Given the description of an element on the screen output the (x, y) to click on. 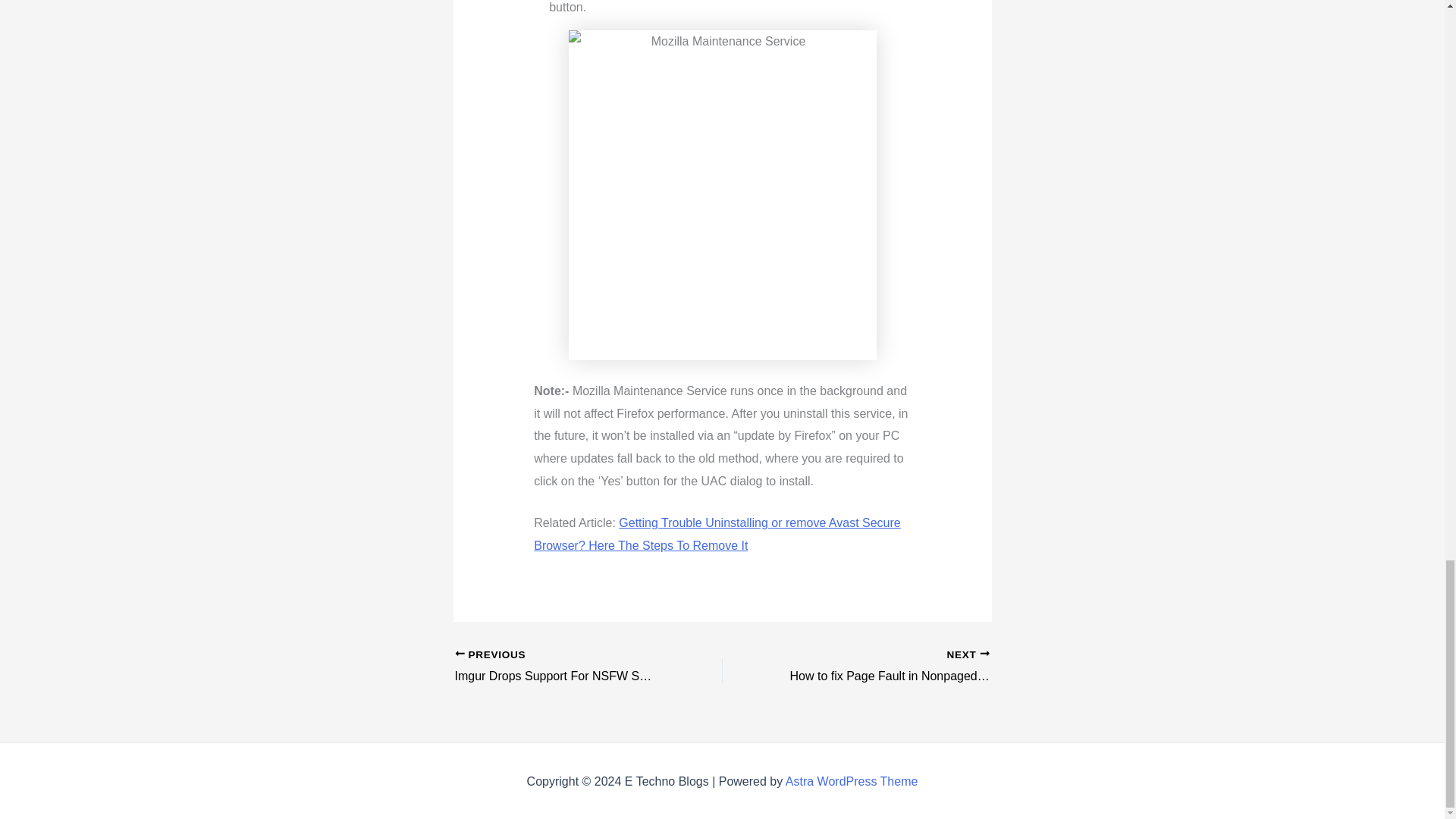
How to fix Page Fault in Nonpaged Area error in Windows 10 (882, 667)
Astra WordPress Theme (852, 780)
